Given the description of an element on the screen output the (x, y) to click on. 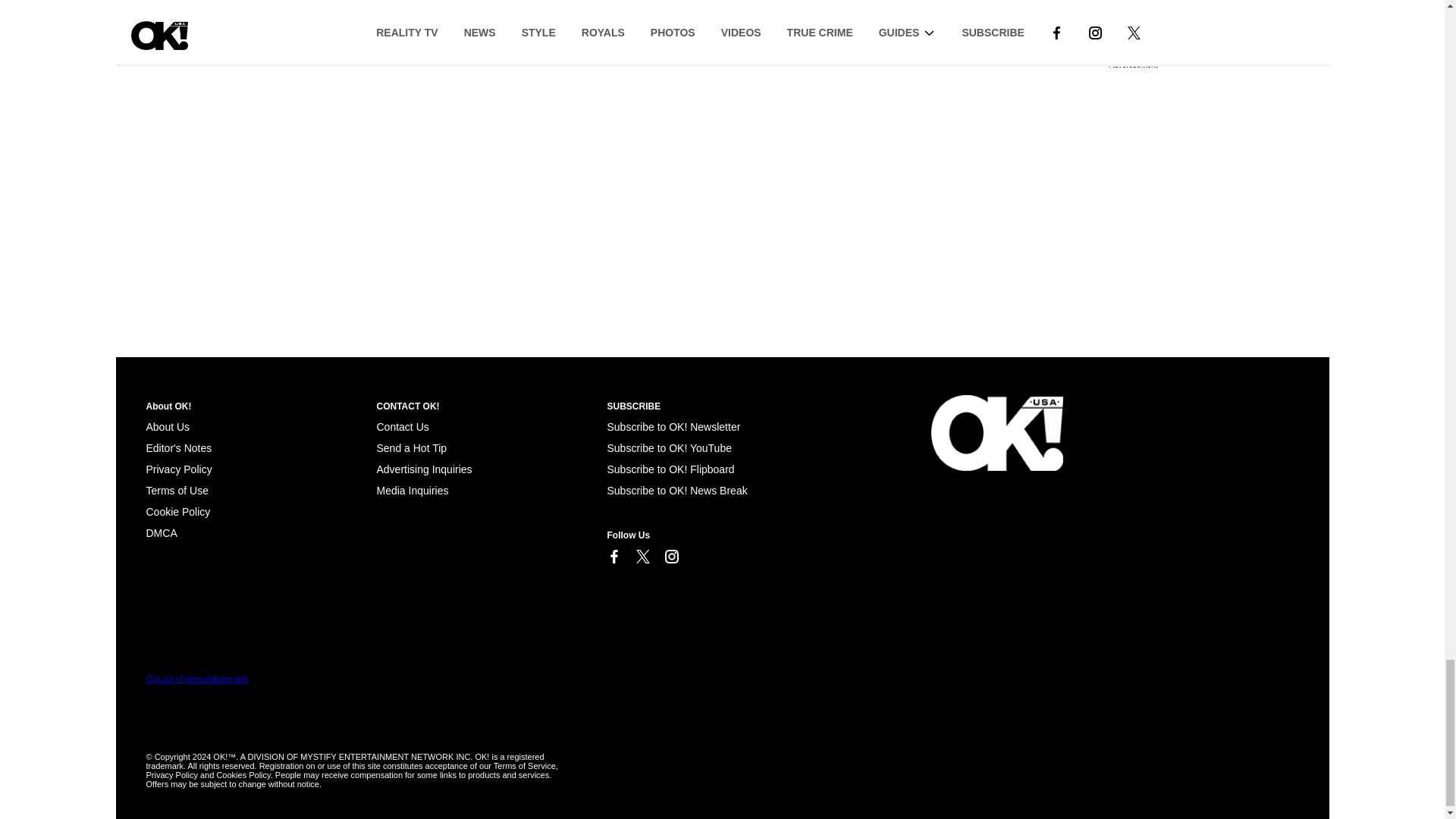
Editor's Notes (178, 448)
About Us (167, 426)
Link to X (641, 556)
Cookie Policy (177, 511)
Contact Us (401, 426)
Cookie Policy (160, 532)
Terms of Use (176, 490)
Link to Facebook (613, 556)
Privacy Policy (178, 469)
Link to Instagram (670, 556)
